Given the description of an element on the screen output the (x, y) to click on. 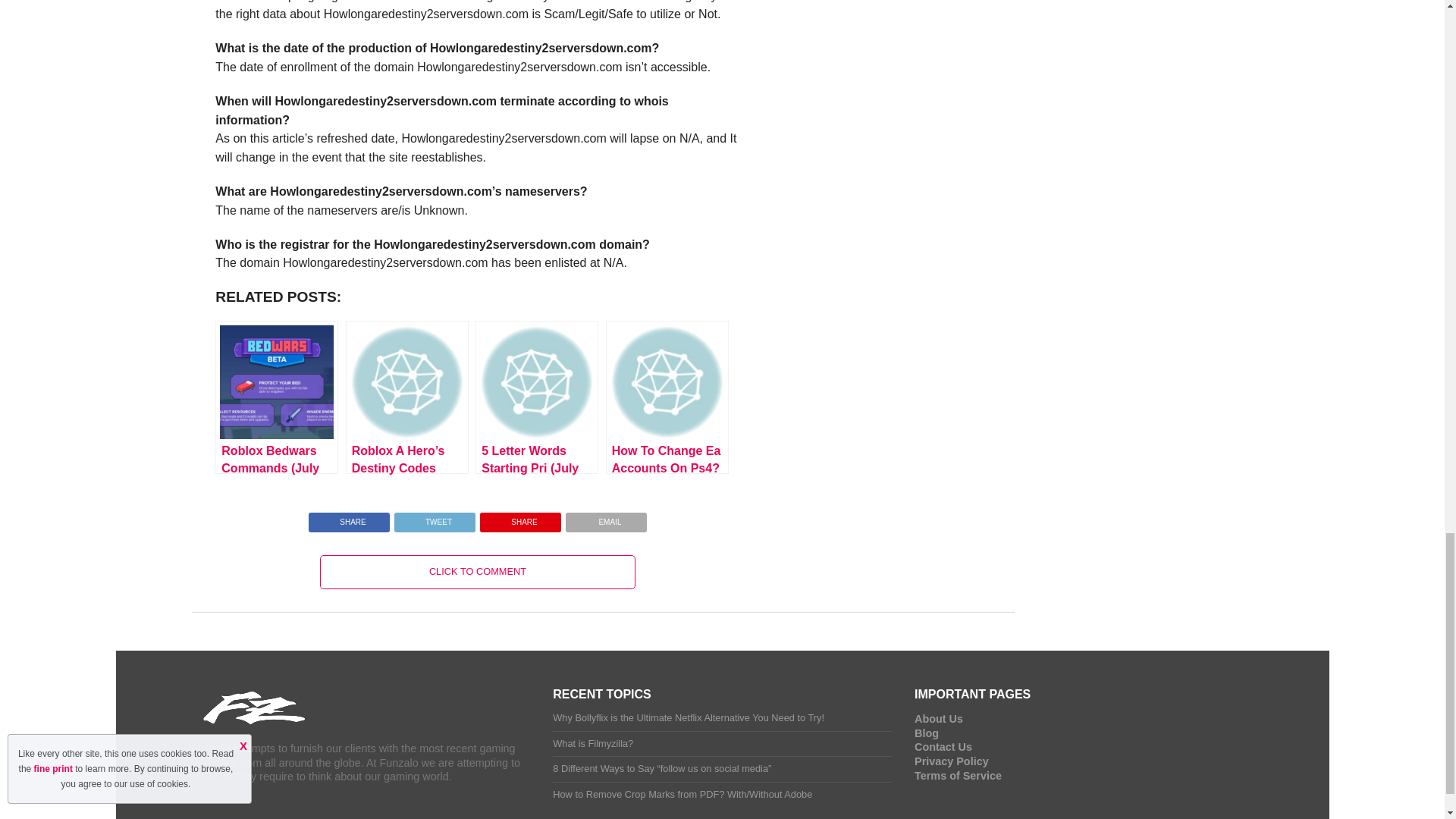
Pin This Post (520, 517)
TWEET (434, 517)
EMAIL (605, 517)
SHARE (349, 517)
SHARE (520, 517)
Share on Facebook (349, 517)
Tweet This Post (434, 517)
